Given the description of an element on the screen output the (x, y) to click on. 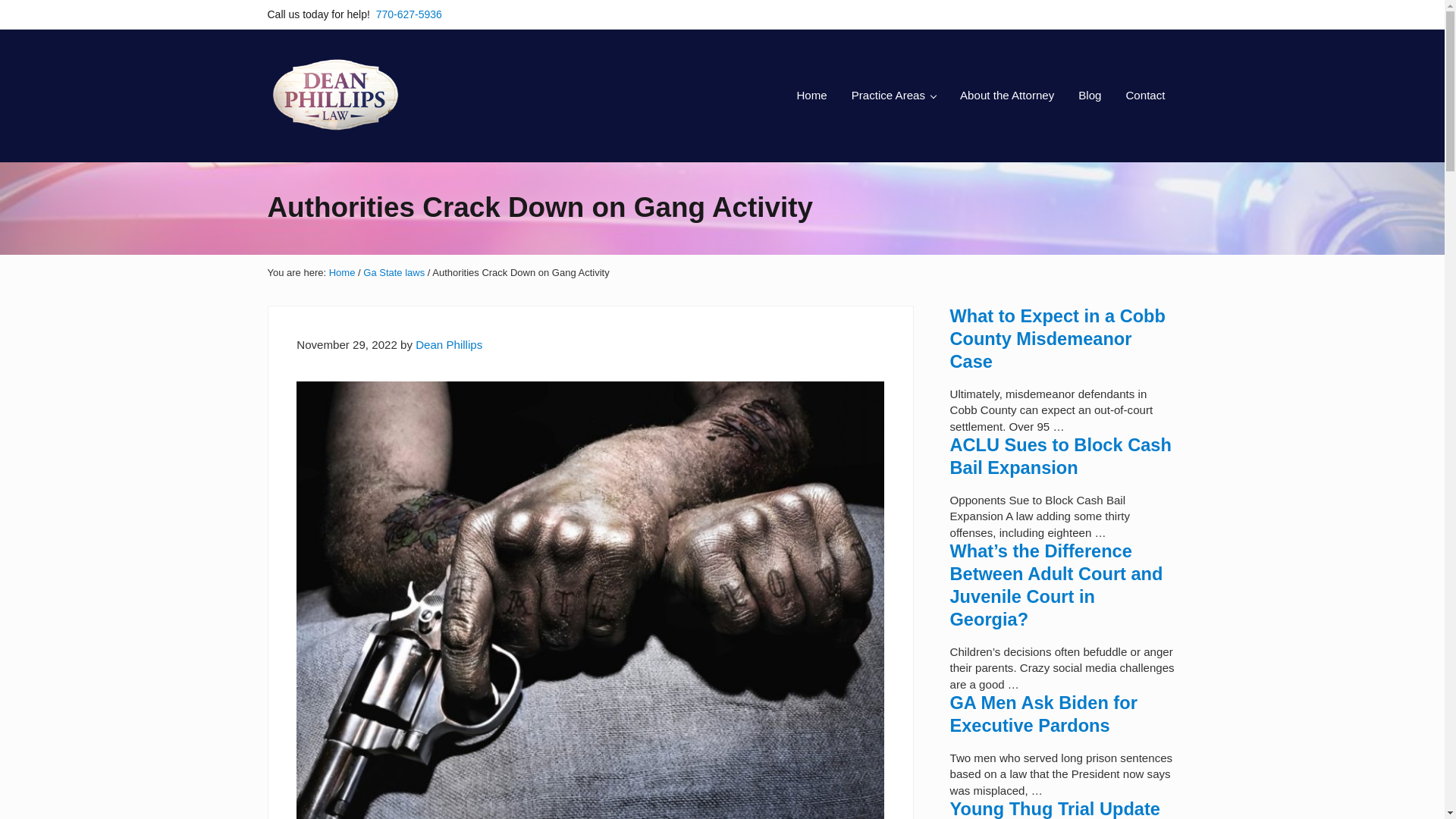
770-627-5936 (408, 14)
Practice Areas (893, 95)
Home (811, 95)
